Given the description of an element on the screen output the (x, y) to click on. 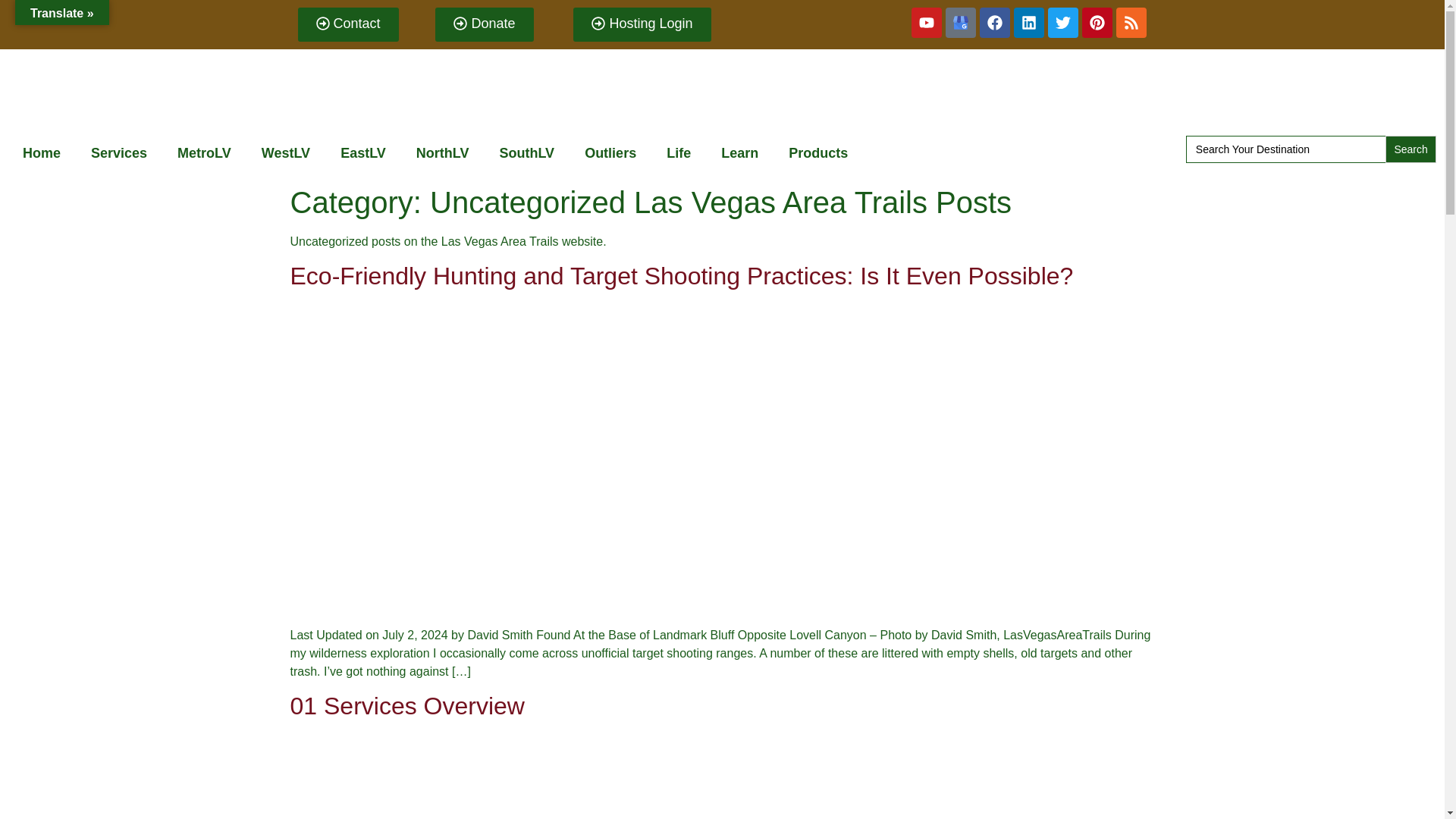
Donate (483, 24)
Home (41, 152)
Contact (347, 24)
Hosting Login (641, 24)
Services (118, 152)
Search (1410, 148)
Search (1410, 148)
